Given the description of an element on the screen output the (x, y) to click on. 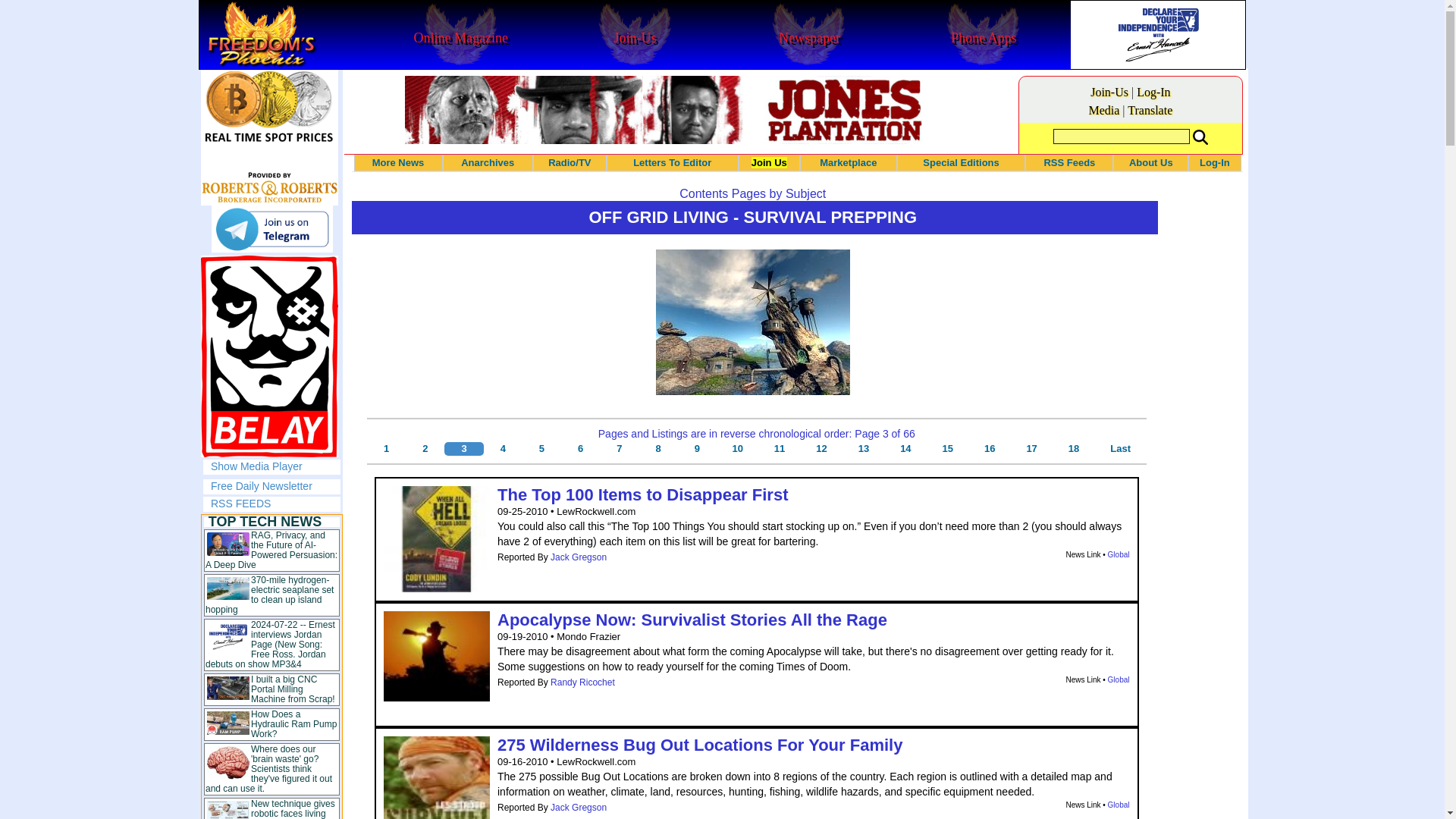
Free Daily Newsletter (262, 485)
RSS FEEDS (240, 503)
Declare Your Independence on Telegram (271, 229)
TOP TECH NEWS (264, 521)
Show Media Player (256, 466)
Top Links (271, 666)
I built a big CNC Portal Milling Machine from Scrap! (292, 689)
How Does a Hydraulic Ram Pump Work? (293, 724)
